Given the description of an element on the screen output the (x, y) to click on. 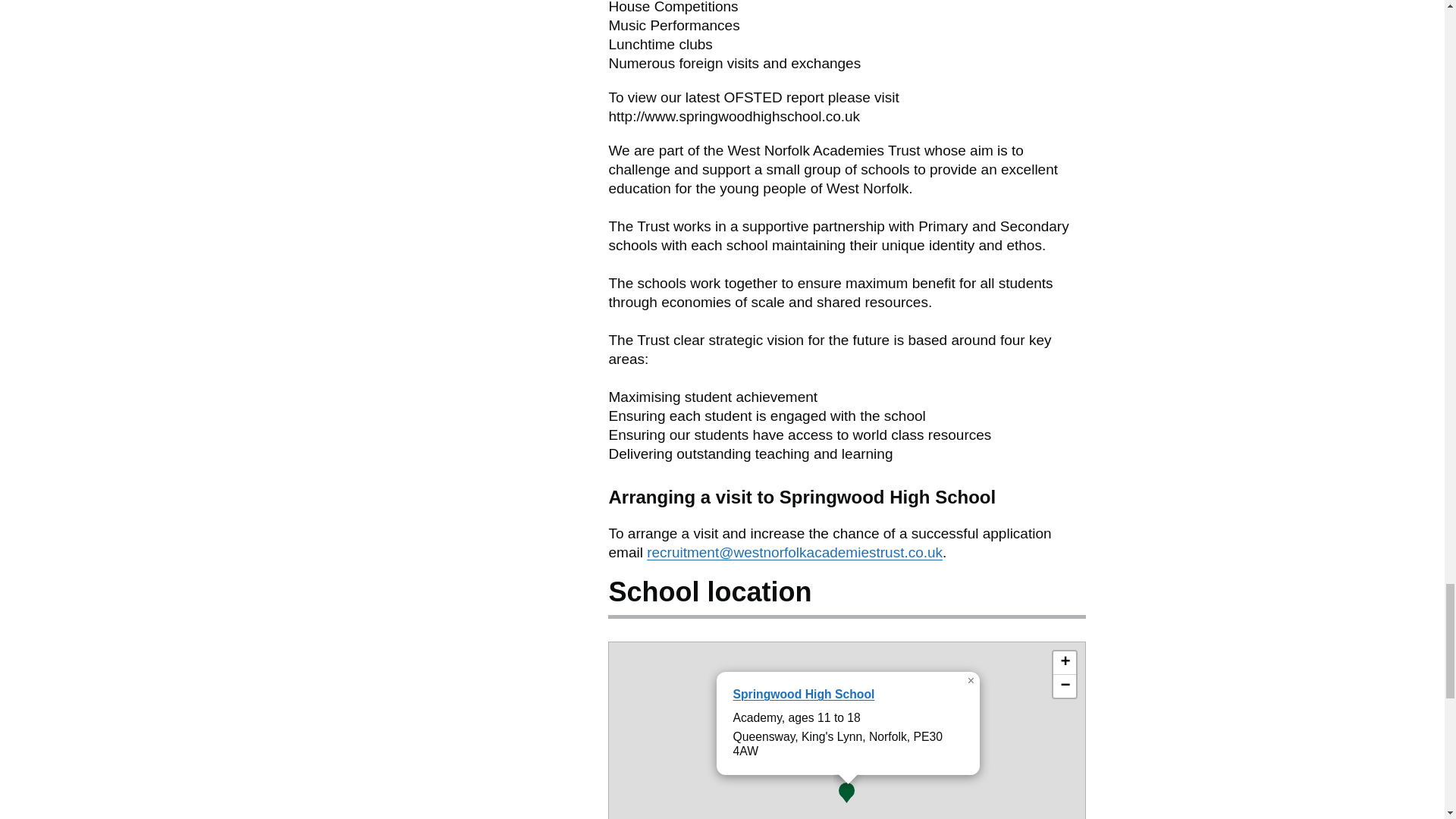
Zoom in (1063, 662)
Zoom out (1063, 685)
Springwood High School (803, 694)
